Given the description of an element on the screen output the (x, y) to click on. 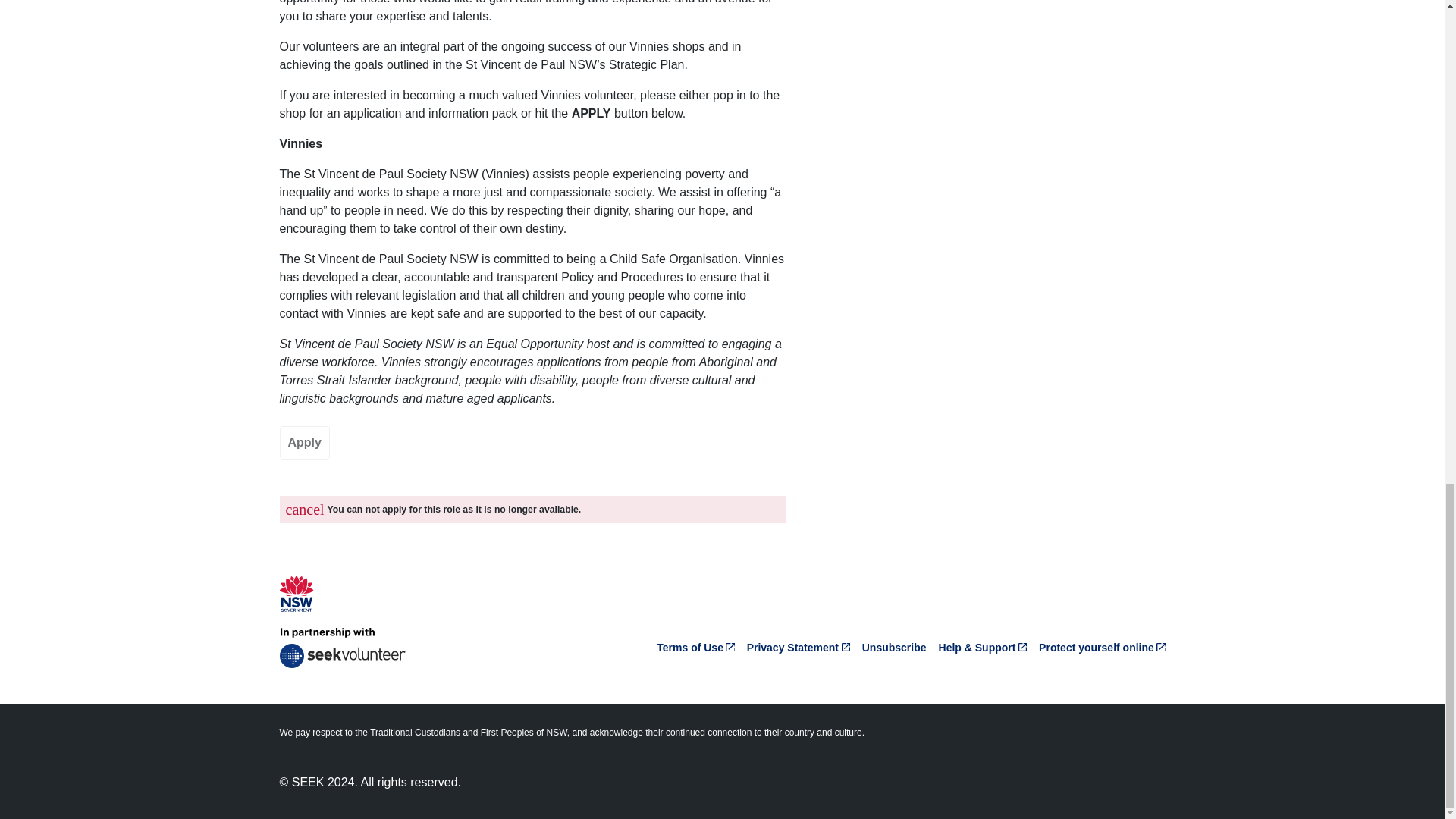
Terms of Use (694, 647)
Protect yourself online (1101, 647)
Apply (304, 442)
Unsubscribe (893, 647)
Privacy Statement (798, 647)
